Given the description of an element on the screen output the (x, y) to click on. 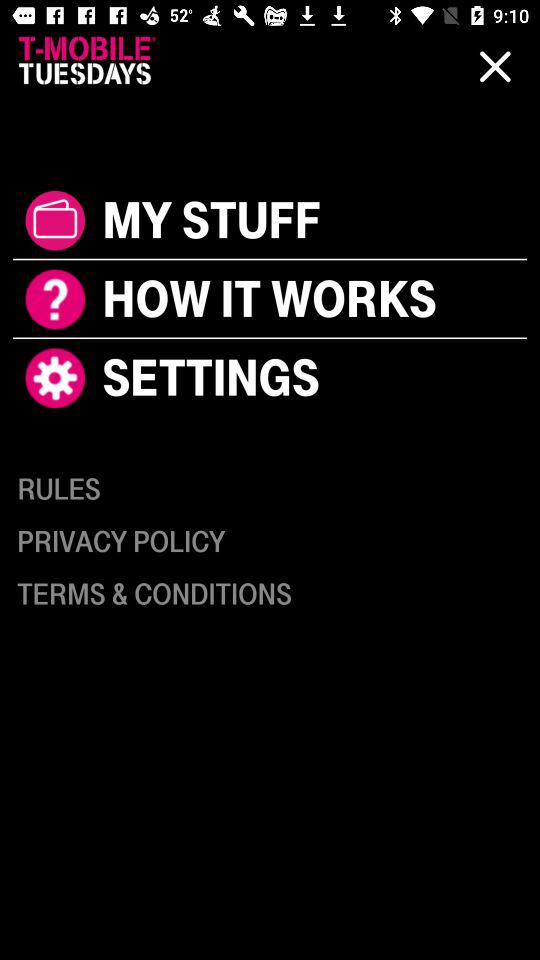
click on close (494, 65)
click on icon on the left side of mt stuff (54, 220)
